Given the description of an element on the screen output the (x, y) to click on. 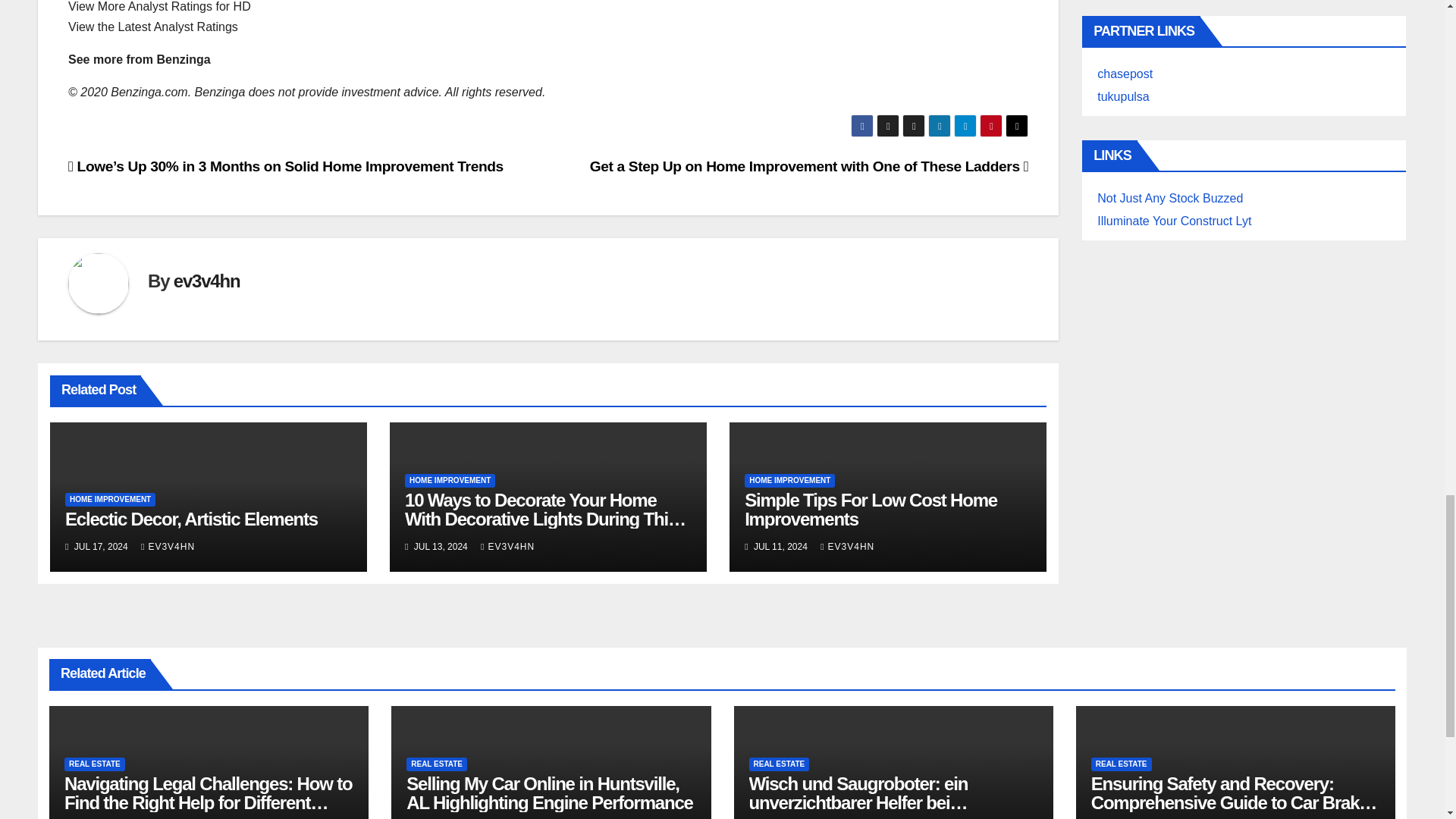
Permalink to: Simple Tips For Low Cost Home Improvements (870, 509)
Permalink to: Eclectic Decor, Artistic Elements (191, 518)
